Given the description of an element on the screen output the (x, y) to click on. 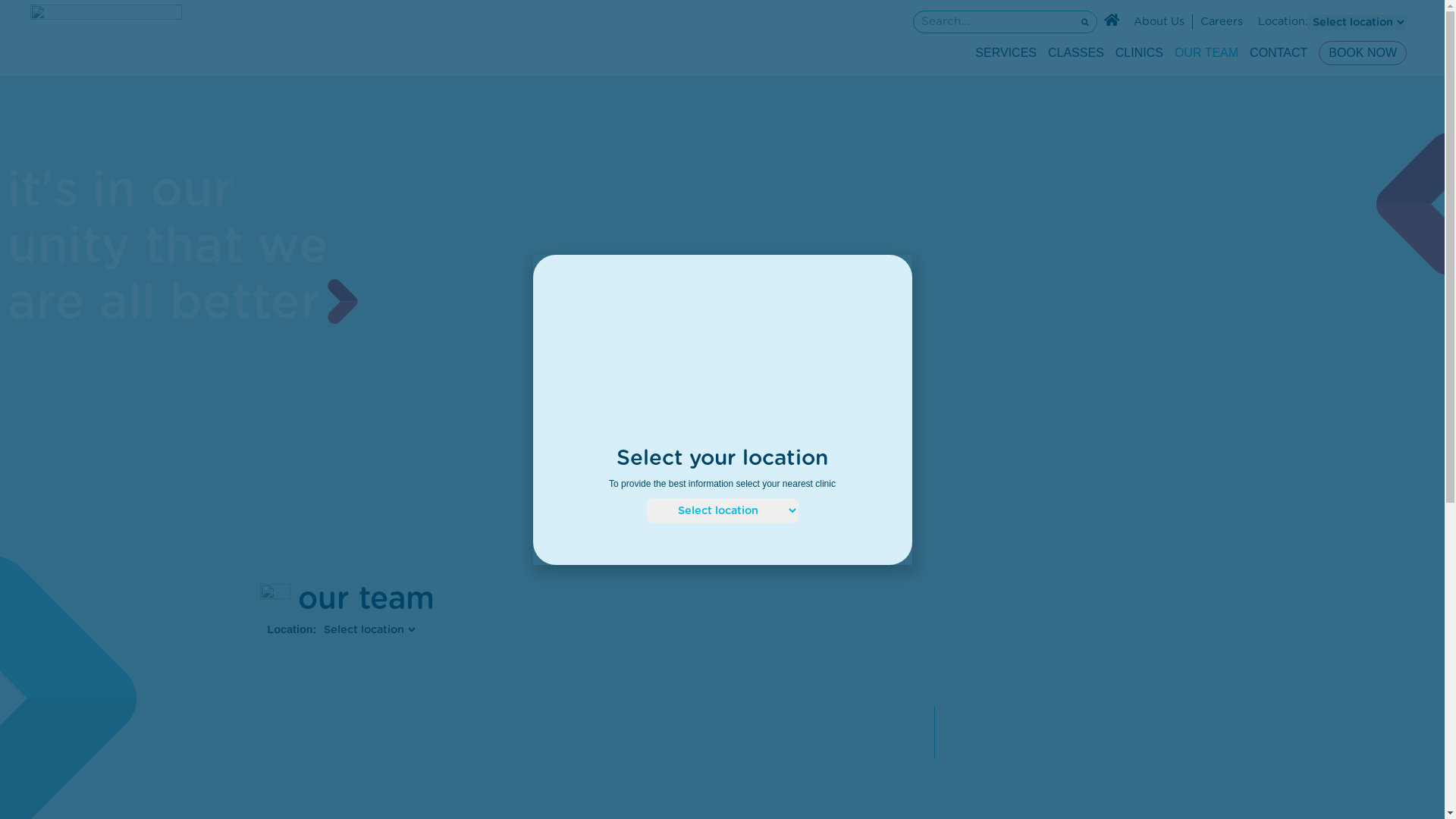
CLASSES Element type: text (1076, 52)
CLINICS Element type: text (1139, 52)
About Us Element type: text (1159, 21)
Search Element type: hover (993, 21)
OUR TEAM Element type: text (1206, 52)
SERVICES Element type: text (1005, 52)
Careers Element type: text (1221, 21)
BOOK NOW Element type: text (1362, 52)
CONTACT Element type: text (1278, 52)
Search Element type: hover (1084, 21)
